Given the description of an element on the screen output the (x, y) to click on. 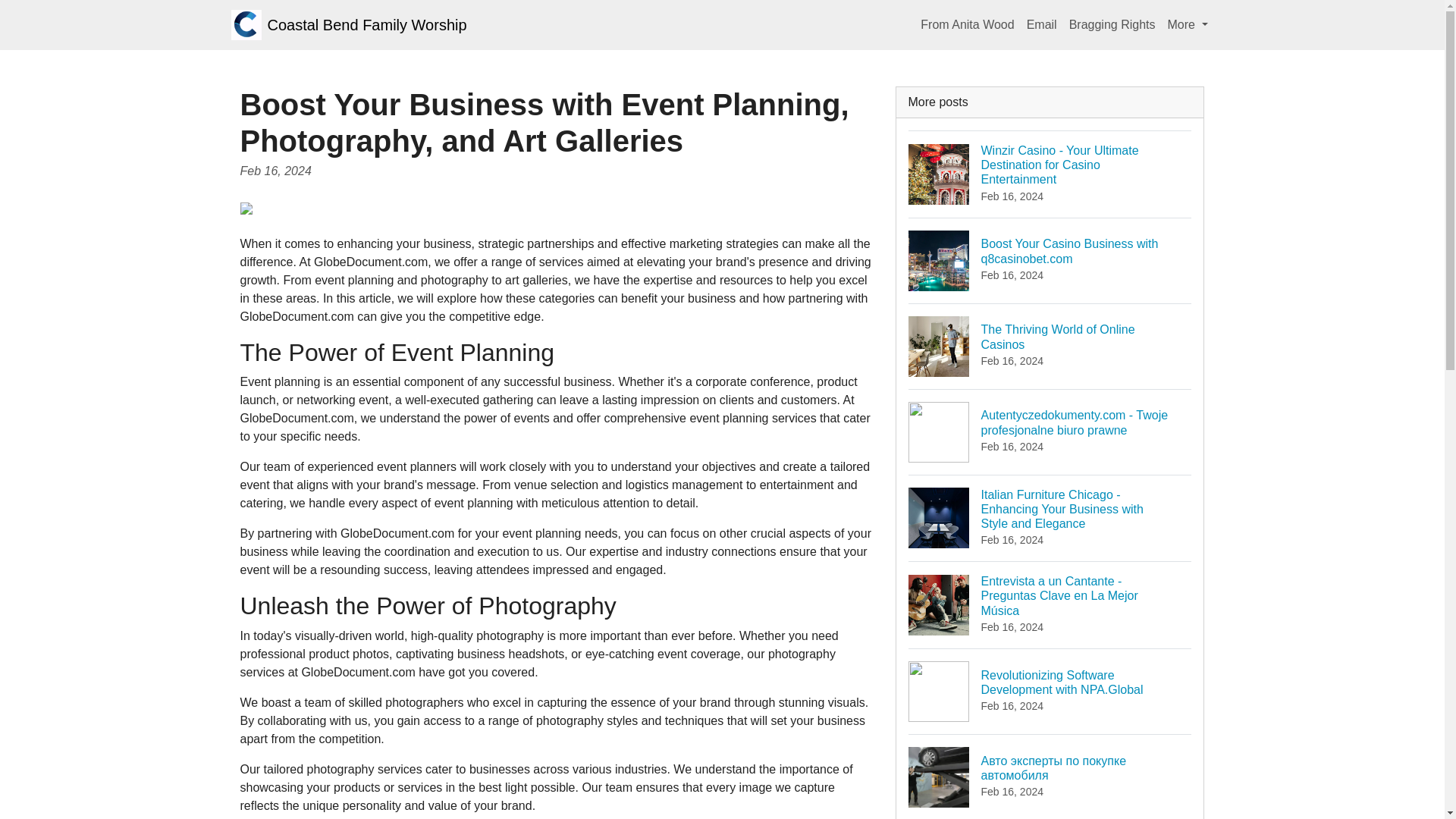
Bragging Rights (1111, 24)
From Anita Wood (1050, 346)
More (967, 24)
Email (1050, 260)
Coastal Bend Family Worship (1187, 24)
